Given the description of an element on the screen output the (x, y) to click on. 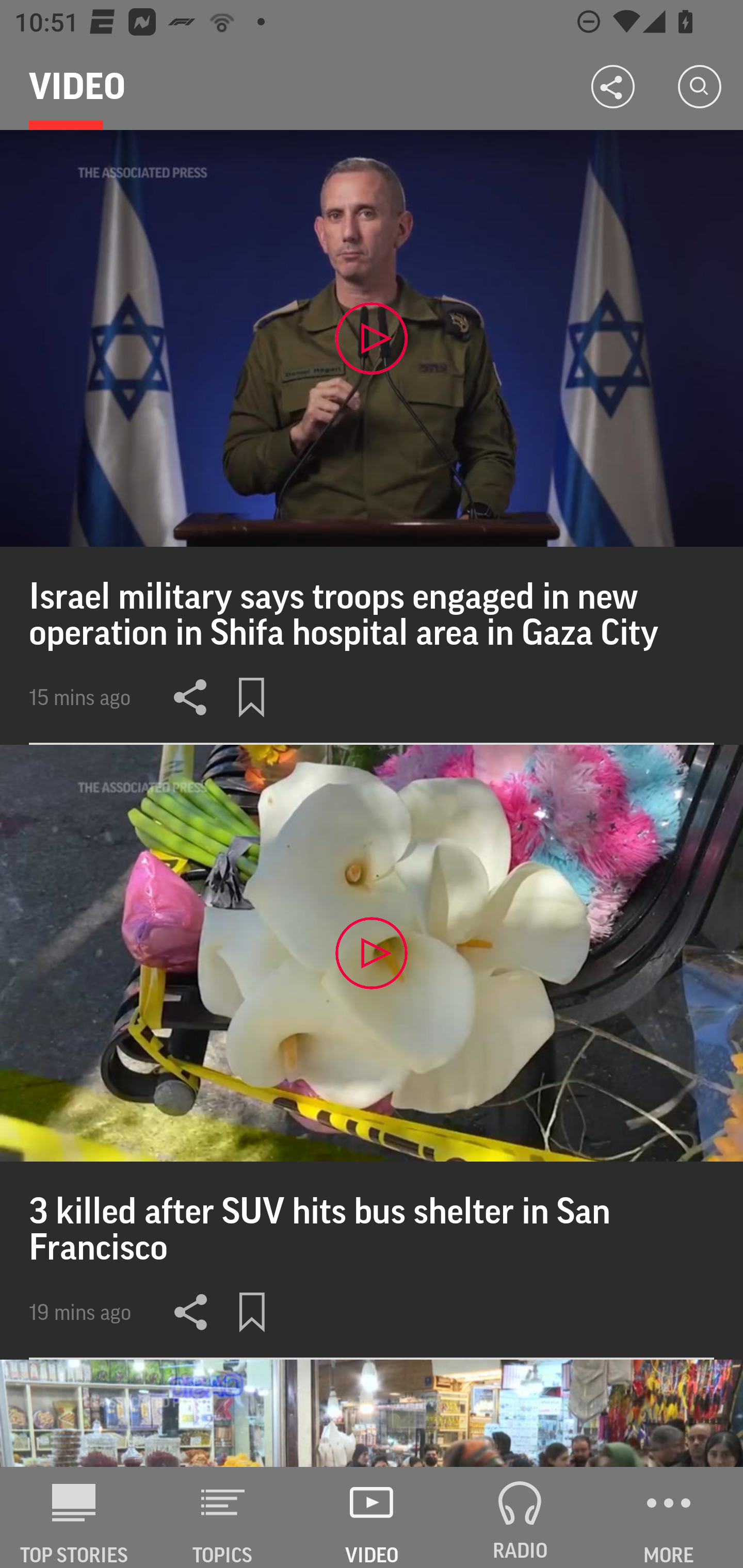
AP News TOP STORIES (74, 1517)
TOPICS (222, 1517)
VIDEO (371, 1517)
RADIO (519, 1517)
MORE (668, 1517)
